Given the description of an element on the screen output the (x, y) to click on. 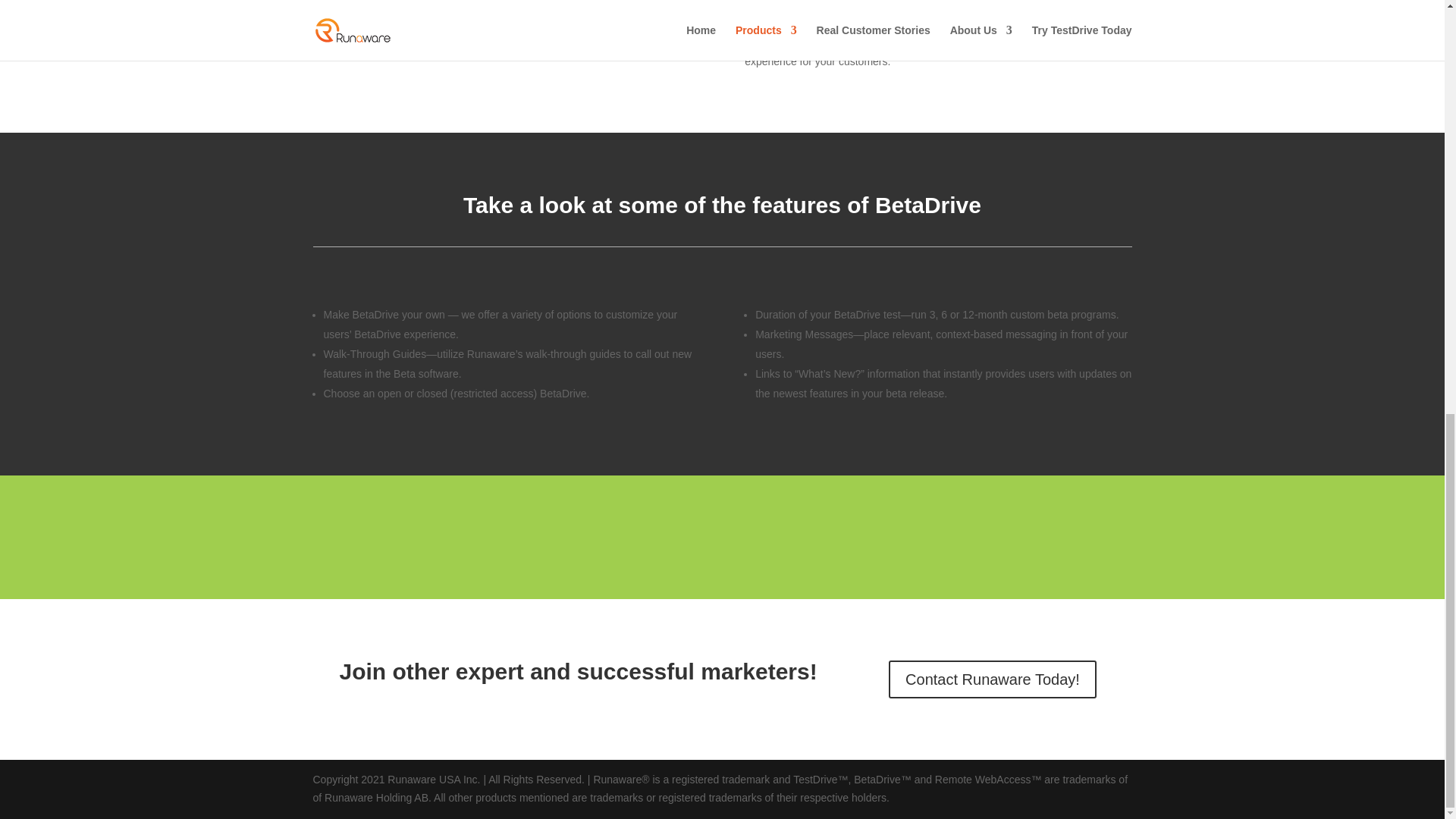
Contact Runaware Today! (992, 679)
